Given the description of an element on the screen output the (x, y) to click on. 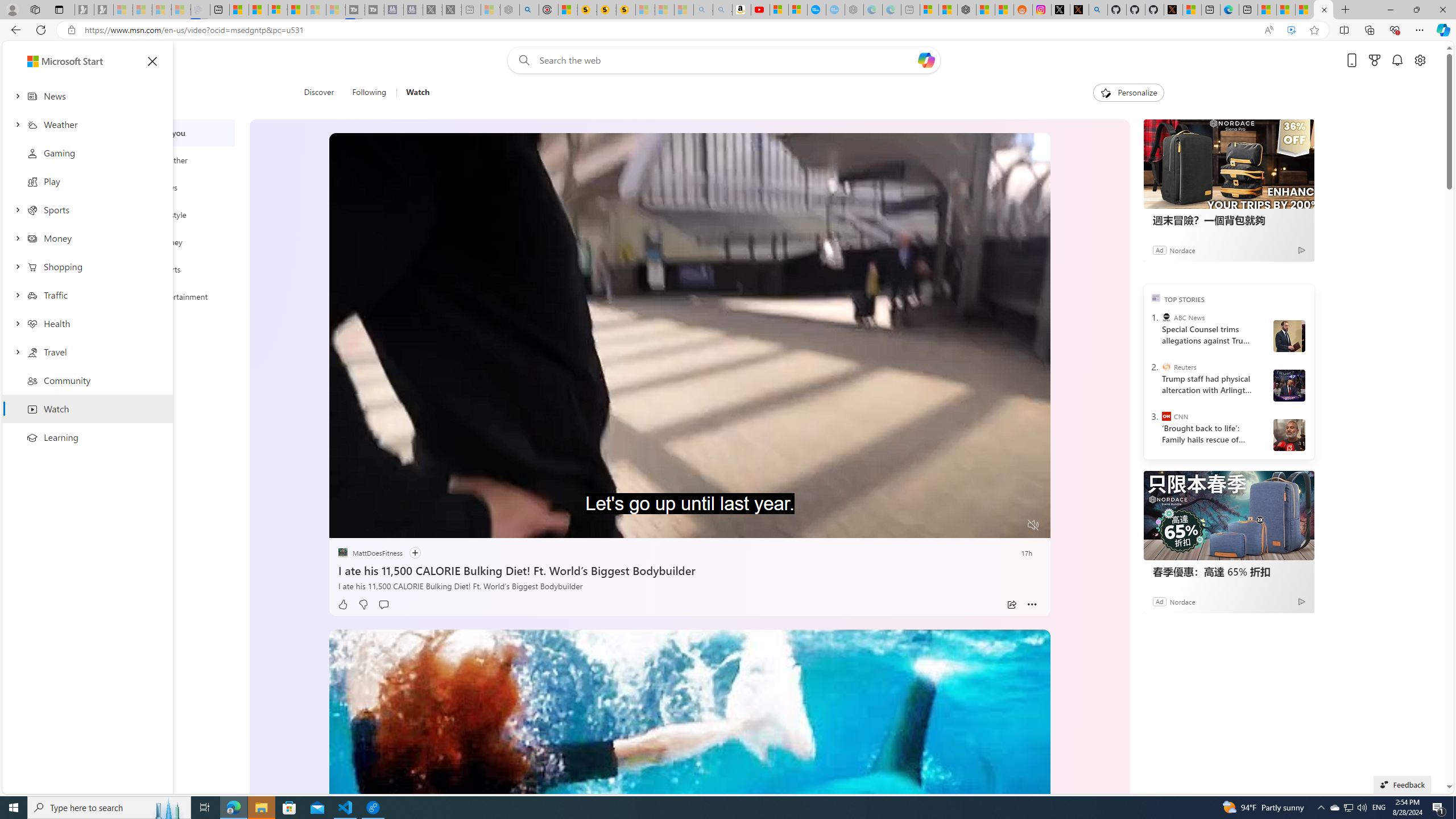
Opinion: Op-Ed and Commentary - USA TODAY (816, 9)
Skip to footer (46, 59)
Enter your search term (726, 59)
Pause (346, 525)
X Privacy Policy (1173, 9)
Unmute (1033, 524)
